Given the description of an element on the screen output the (x, y) to click on. 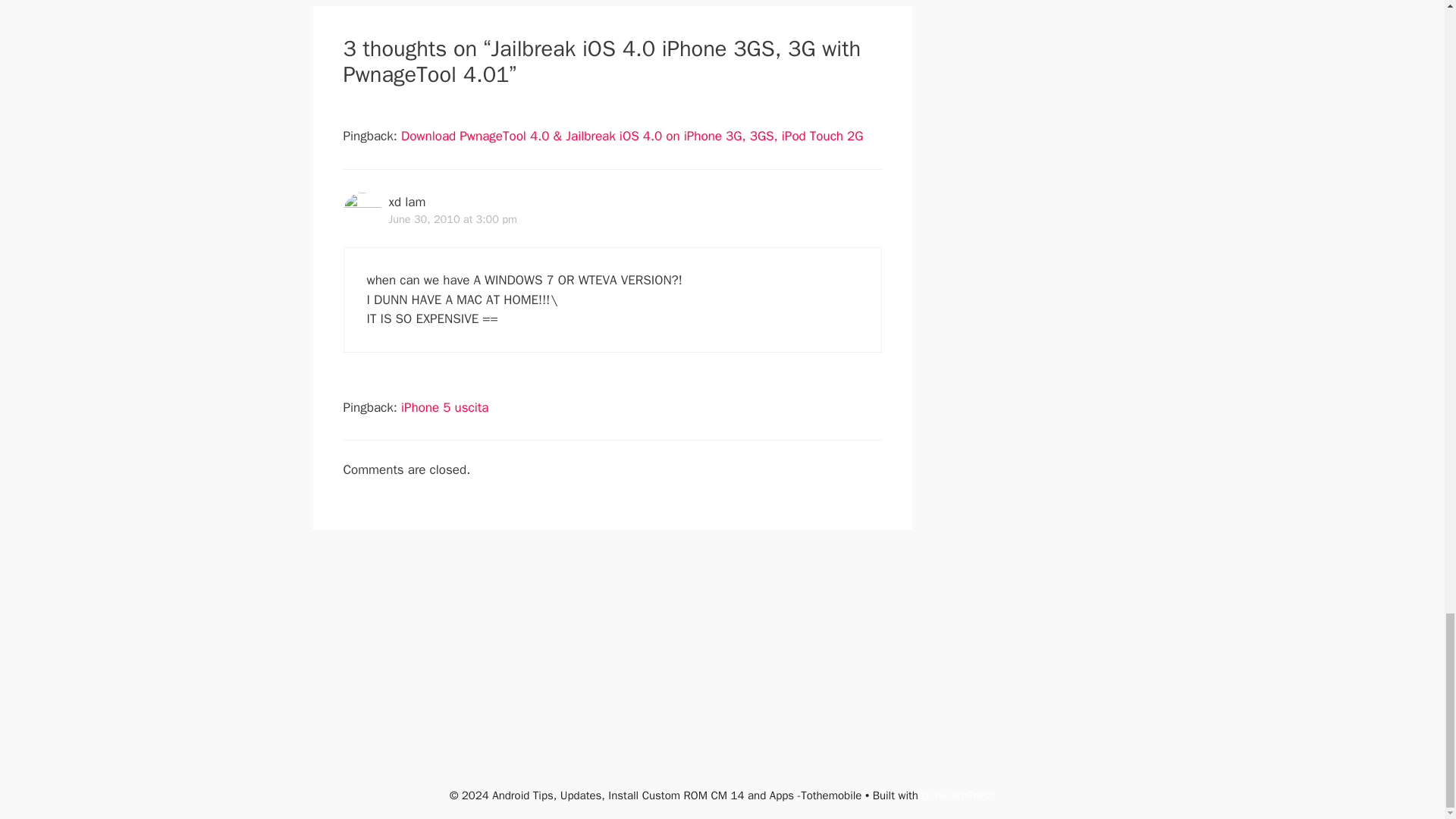
June 30, 2010 at 3:00 pm (452, 219)
iPhone 5 uscita (444, 407)
